Given the description of an element on the screen output the (x, y) to click on. 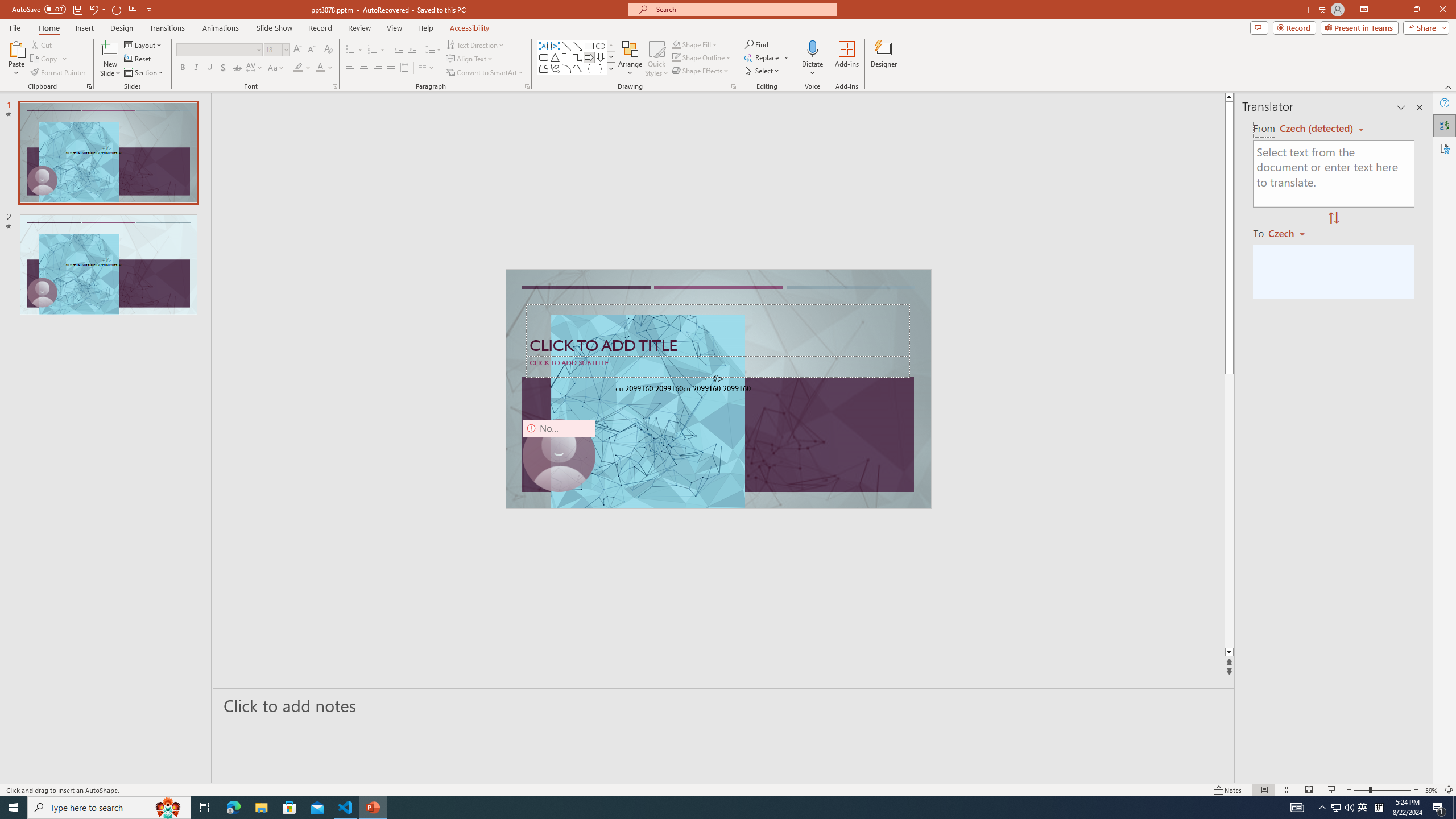
Zoom 59% (1431, 790)
Title TextBox (717, 330)
Czech (1291, 232)
